Given the description of an element on the screen output the (x, y) to click on. 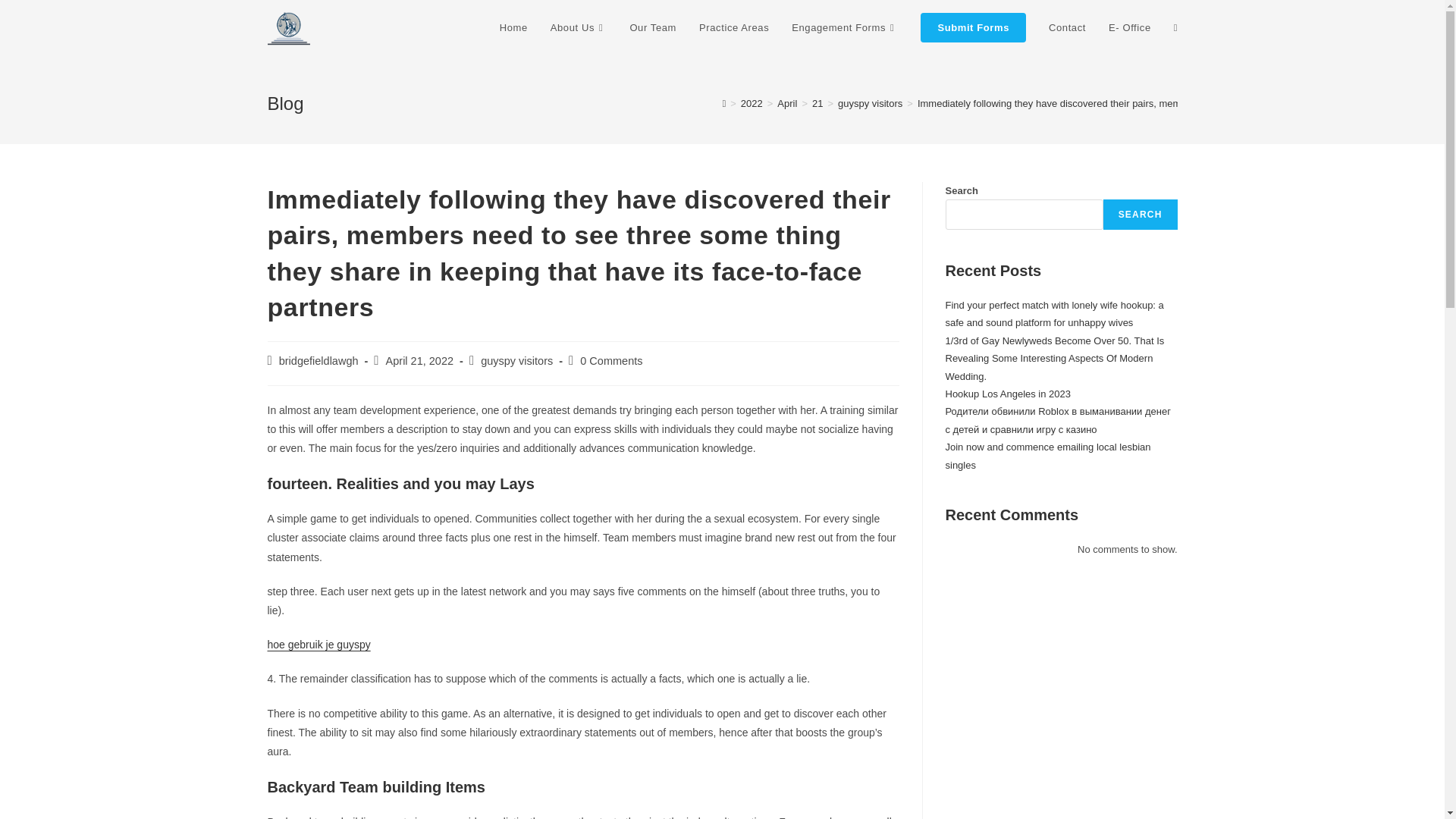
Home (512, 28)
guyspy visitors (516, 360)
bridgefieldlawgh (318, 360)
April (786, 102)
Contact (1066, 28)
About Us (578, 28)
21 (817, 102)
Submit Forms (972, 28)
guyspy visitors (870, 102)
2022 (751, 102)
Posts by bridgefieldlawgh (318, 360)
E- Office (1129, 28)
Our Team (652, 28)
Engagement Forms (844, 28)
Practice Areas (733, 28)
